Given the description of an element on the screen output the (x, y) to click on. 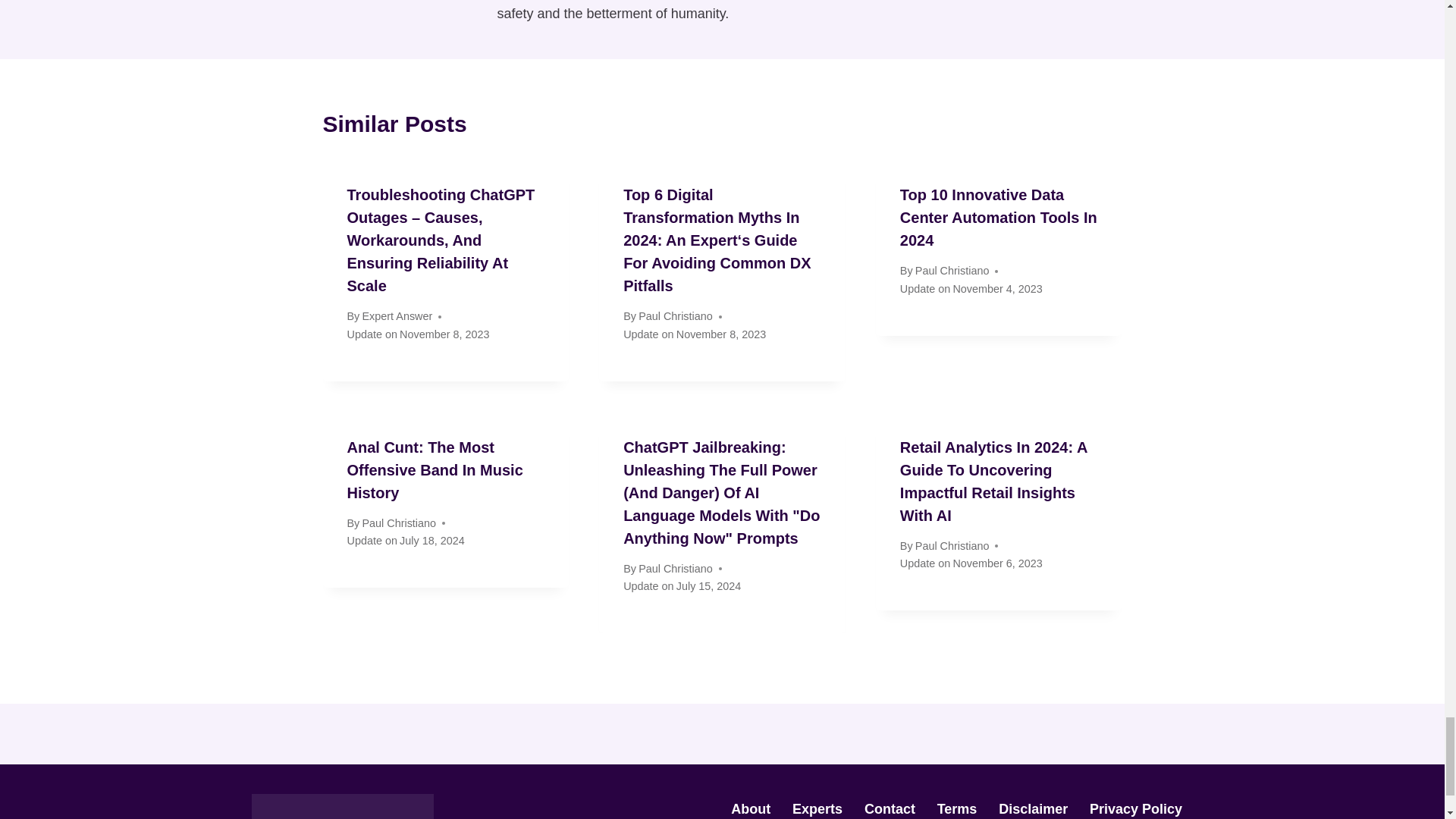
Top 10 Innovative Data Center Automation Tools In 2024 (998, 217)
nofollow (889, 808)
nofollow (750, 808)
